Given the description of an element on the screen output the (x, y) to click on. 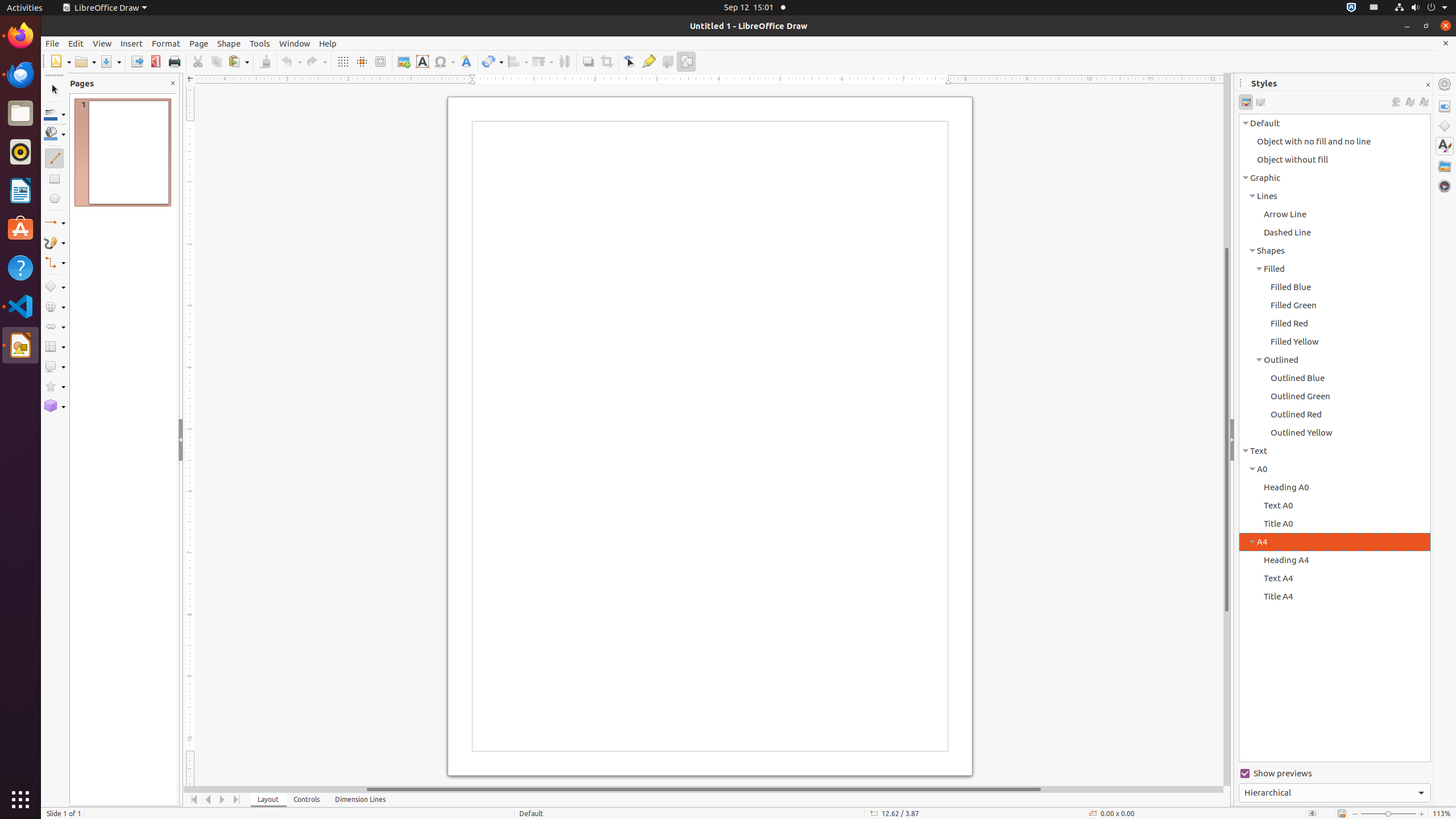
Page Element type: menu (198, 43)
Copy Element type: push-button (216, 61)
Drawing Styles Element type: push-button (1245, 101)
New Element type: push-button (59, 61)
